Given the description of an element on the screen output the (x, y) to click on. 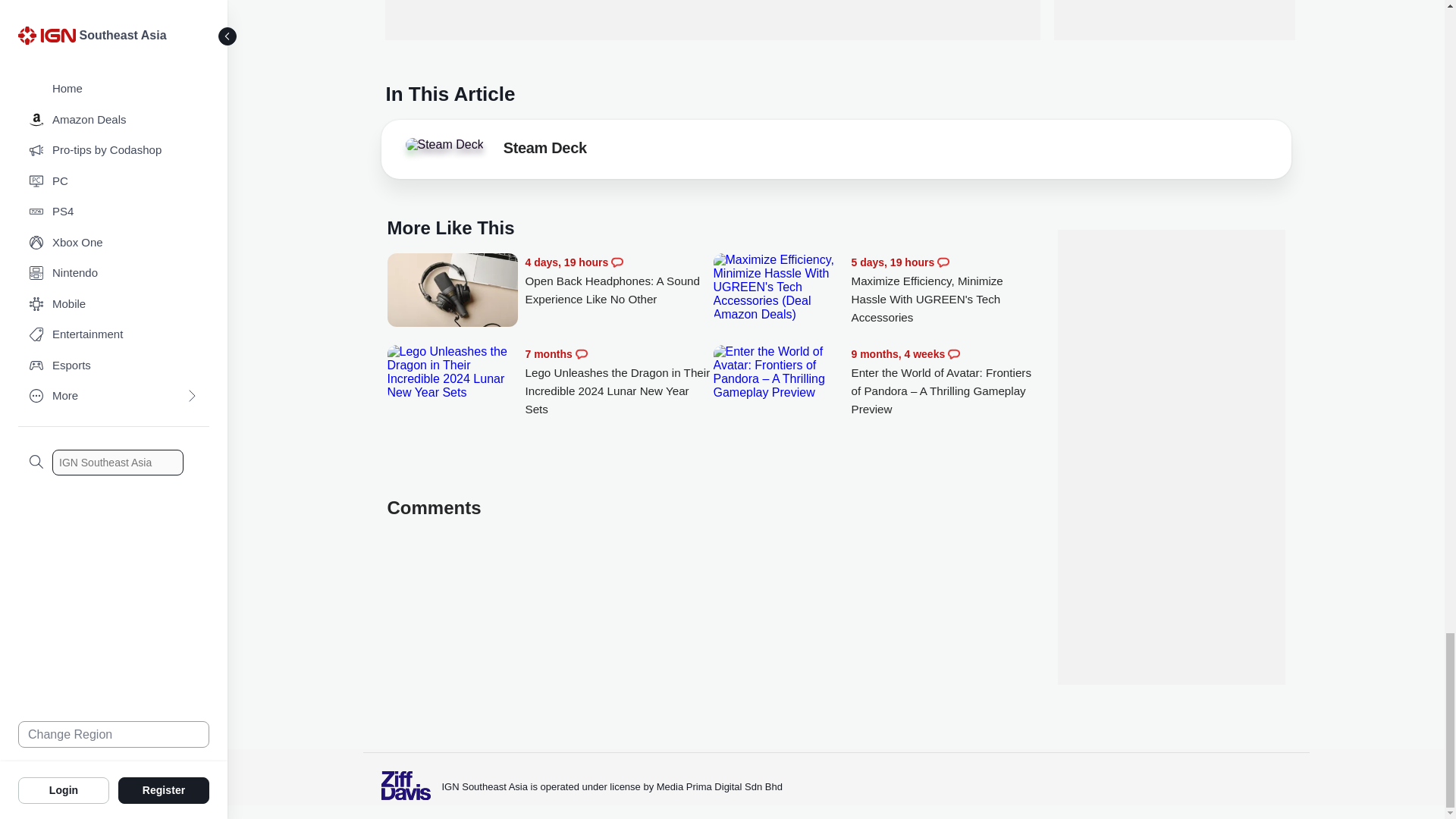
Comments (617, 262)
Comments (943, 262)
Steam Deck (544, 150)
Comments (581, 354)
Steam Deck (443, 144)
Steam Deck (448, 149)
Open Back Headphones: A Sound Experience Like No Other (618, 280)
Open Back Headphones: A Sound Experience Like No Other (451, 291)
